Given the description of an element on the screen output the (x, y) to click on. 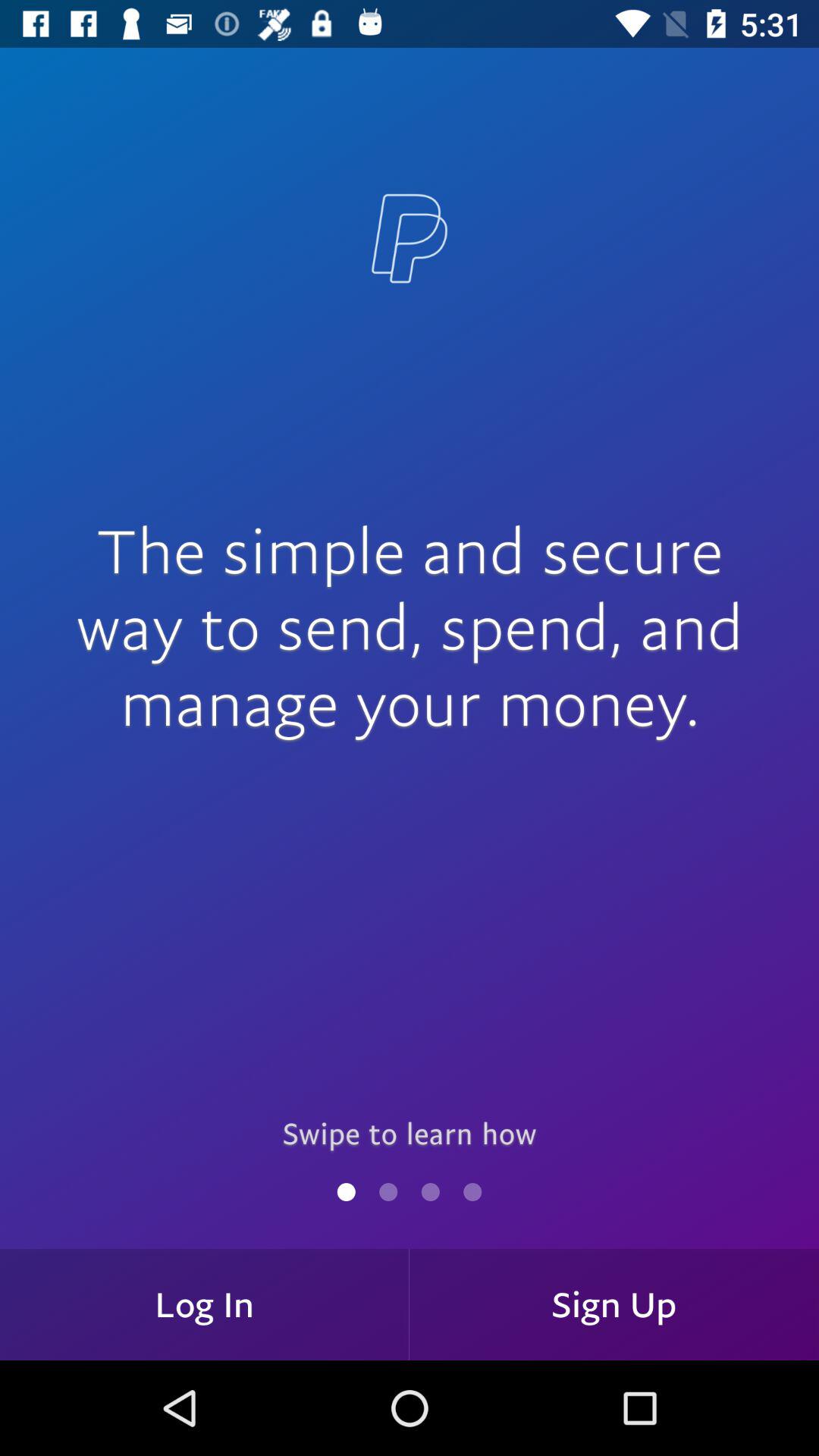
select the icon next to log in (614, 1304)
